Given the description of an element on the screen output the (x, y) to click on. 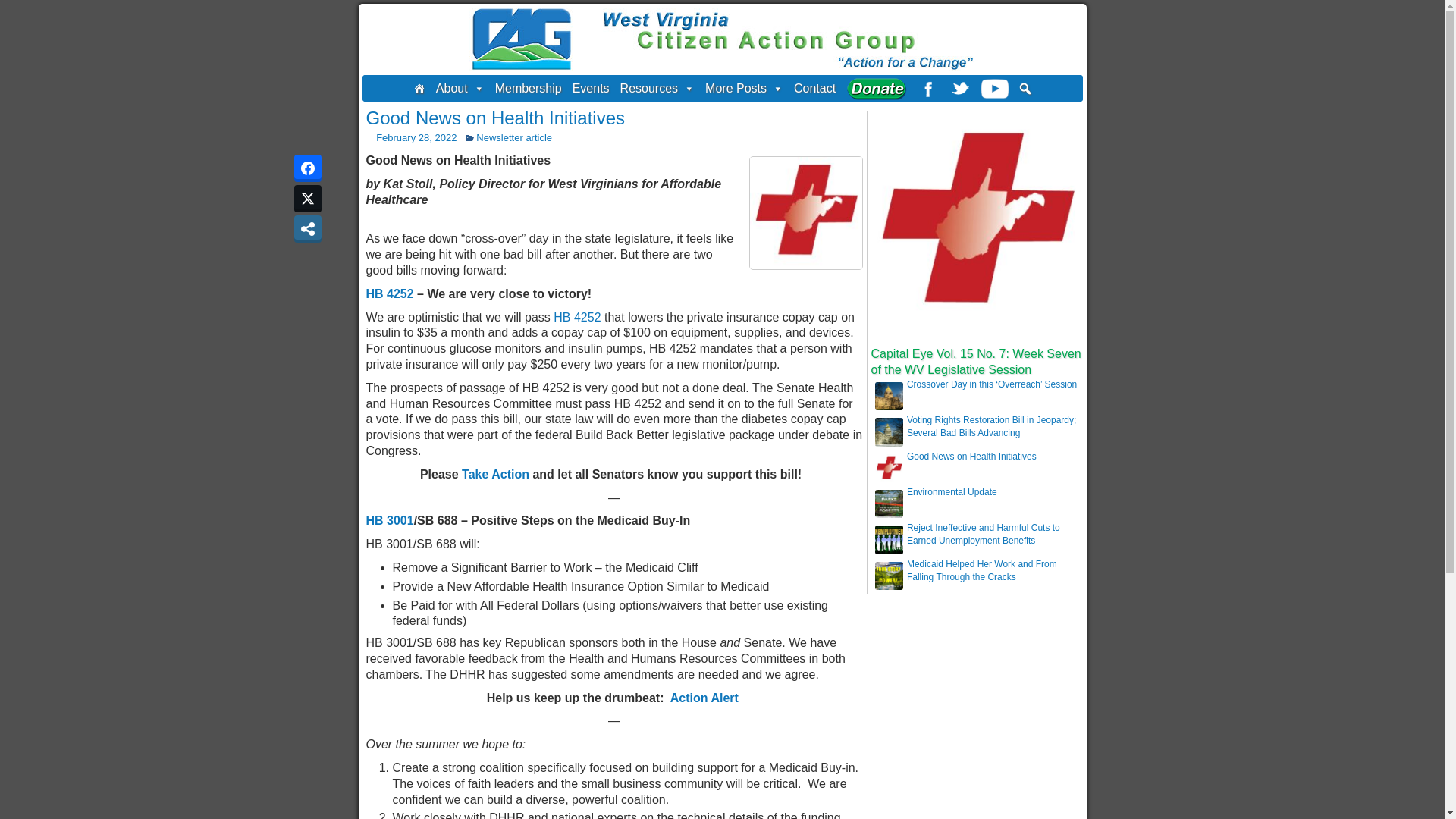
Share on other apps (307, 228)
February 28, 2022 (416, 137)
About (459, 87)
Events (590, 87)
Resources (657, 87)
More Posts (744, 87)
Search (11, 7)
Newsletter article (513, 137)
Share on Facebook (307, 167)
Good News on Health Initiatives (494, 117)
Share on Twitter (307, 198)
Membership (528, 87)
Contact (815, 87)
